Given the description of an element on the screen output the (x, y) to click on. 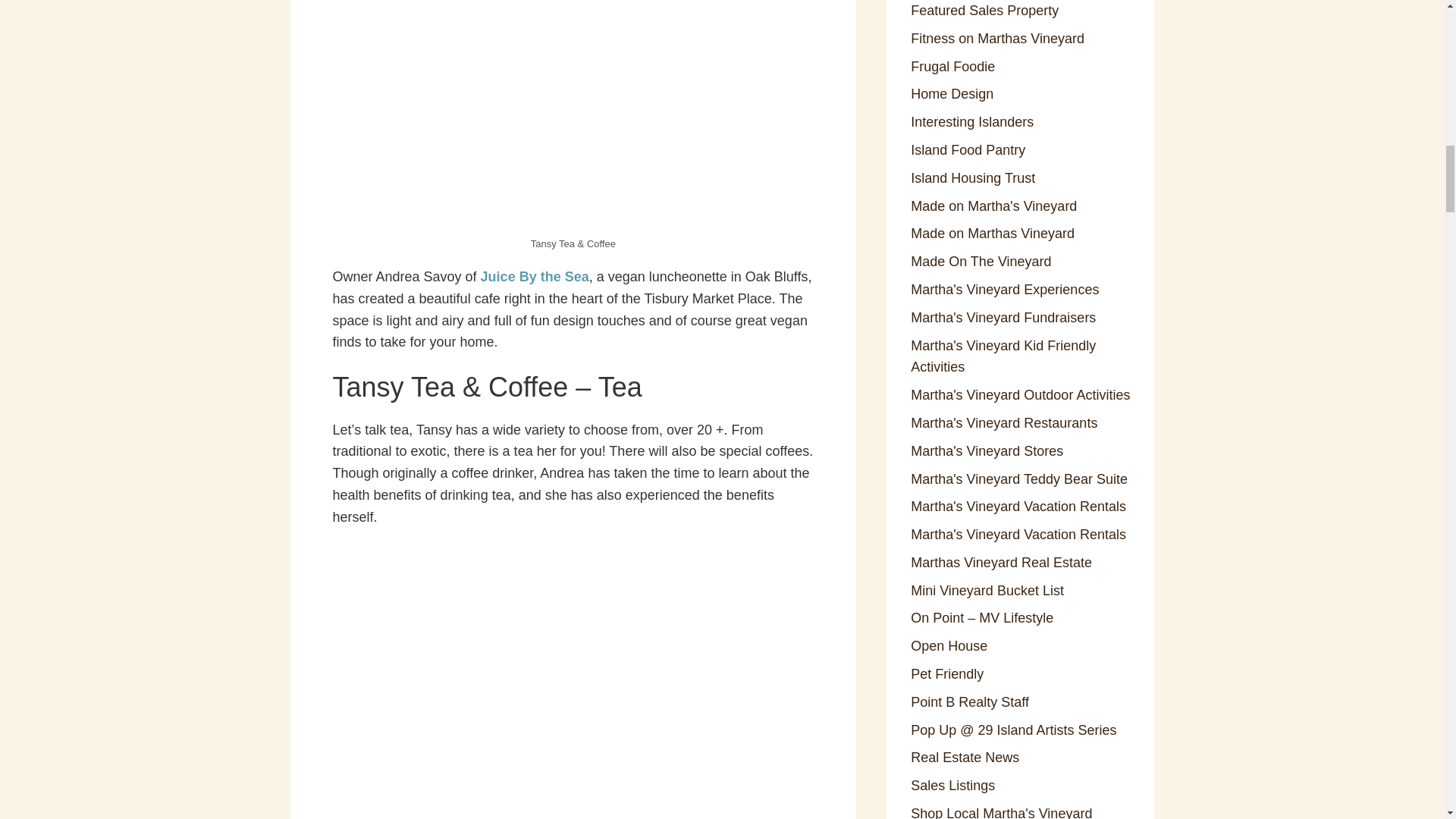
Juice By the Sea (534, 276)
